Given the description of an element on the screen output the (x, y) to click on. 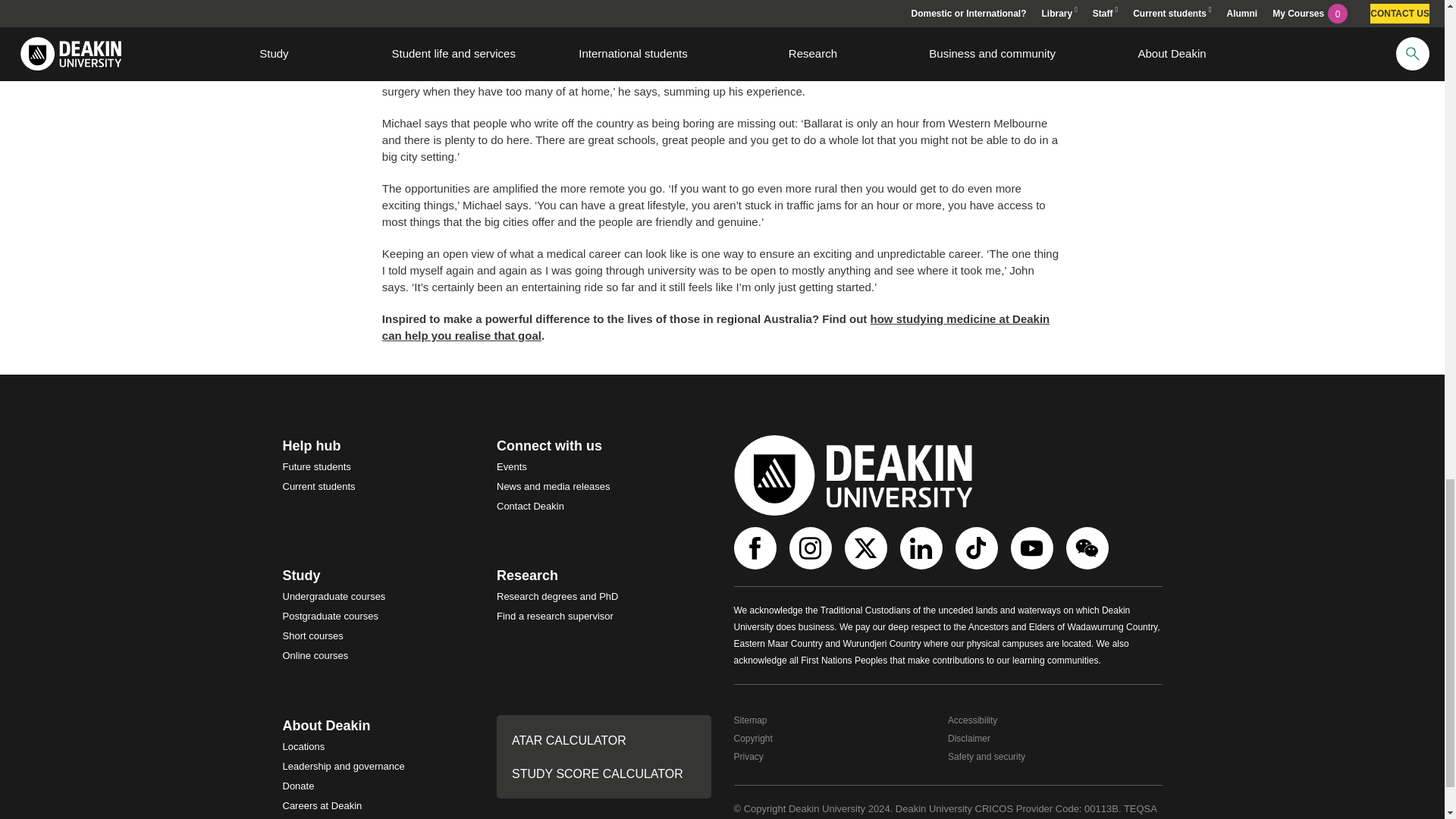
Youtube (1033, 548)
Facebook (756, 548)
Instagram (811, 548)
Twitter (867, 548)
TikTok (978, 548)
Linkedin (921, 548)
